Given the description of an element on the screen output the (x, y) to click on. 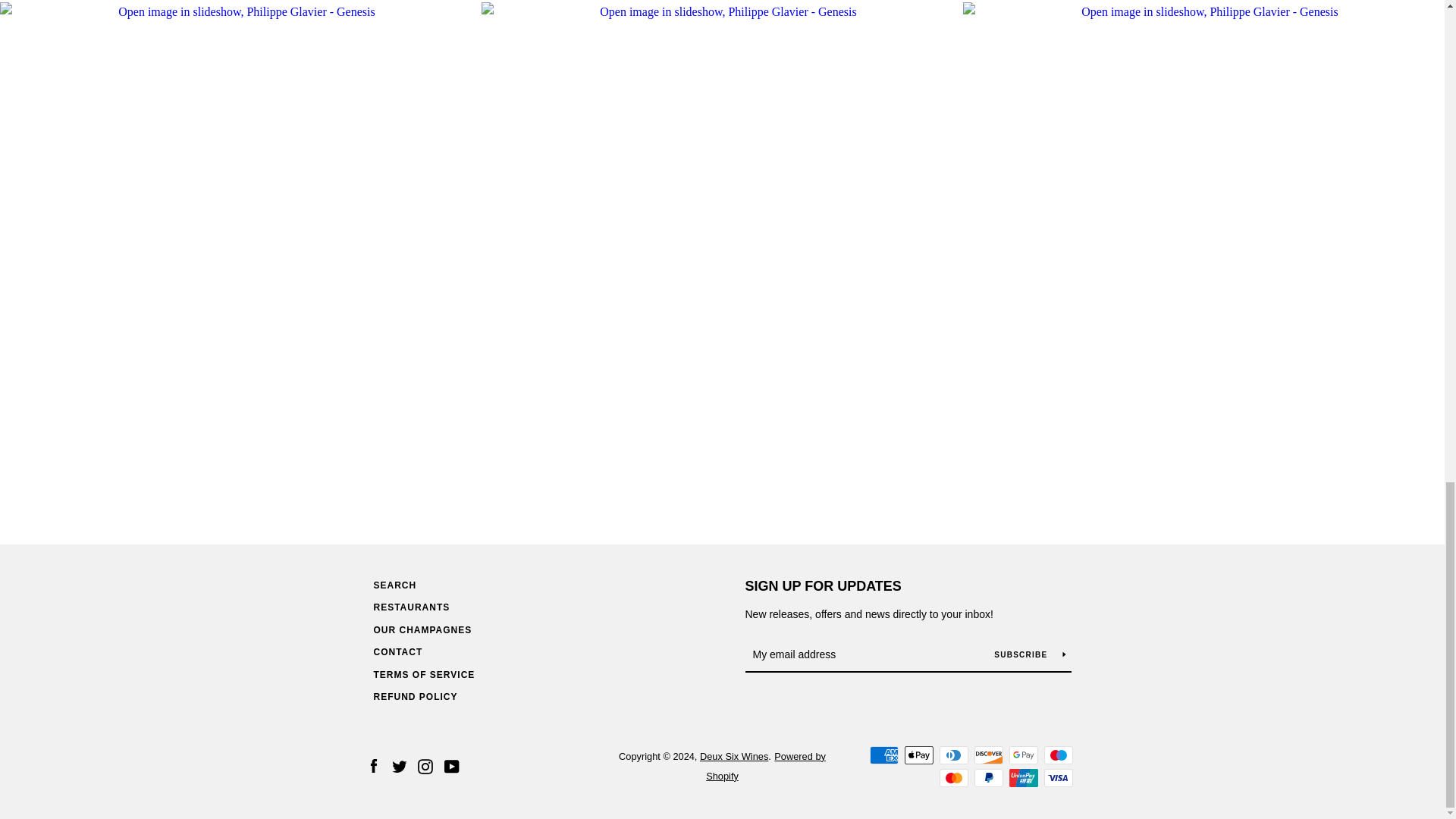
Visa (1057, 778)
Union Pay (1022, 778)
Deux Six Wines on YouTube (452, 765)
PayPal (988, 778)
American Express (883, 755)
Apple Pay (918, 755)
Google Pay (1022, 755)
Maestro (1057, 755)
Deux Six Wines on Instagram (424, 765)
Diners Club (953, 755)
